Given the description of an element on the screen output the (x, y) to click on. 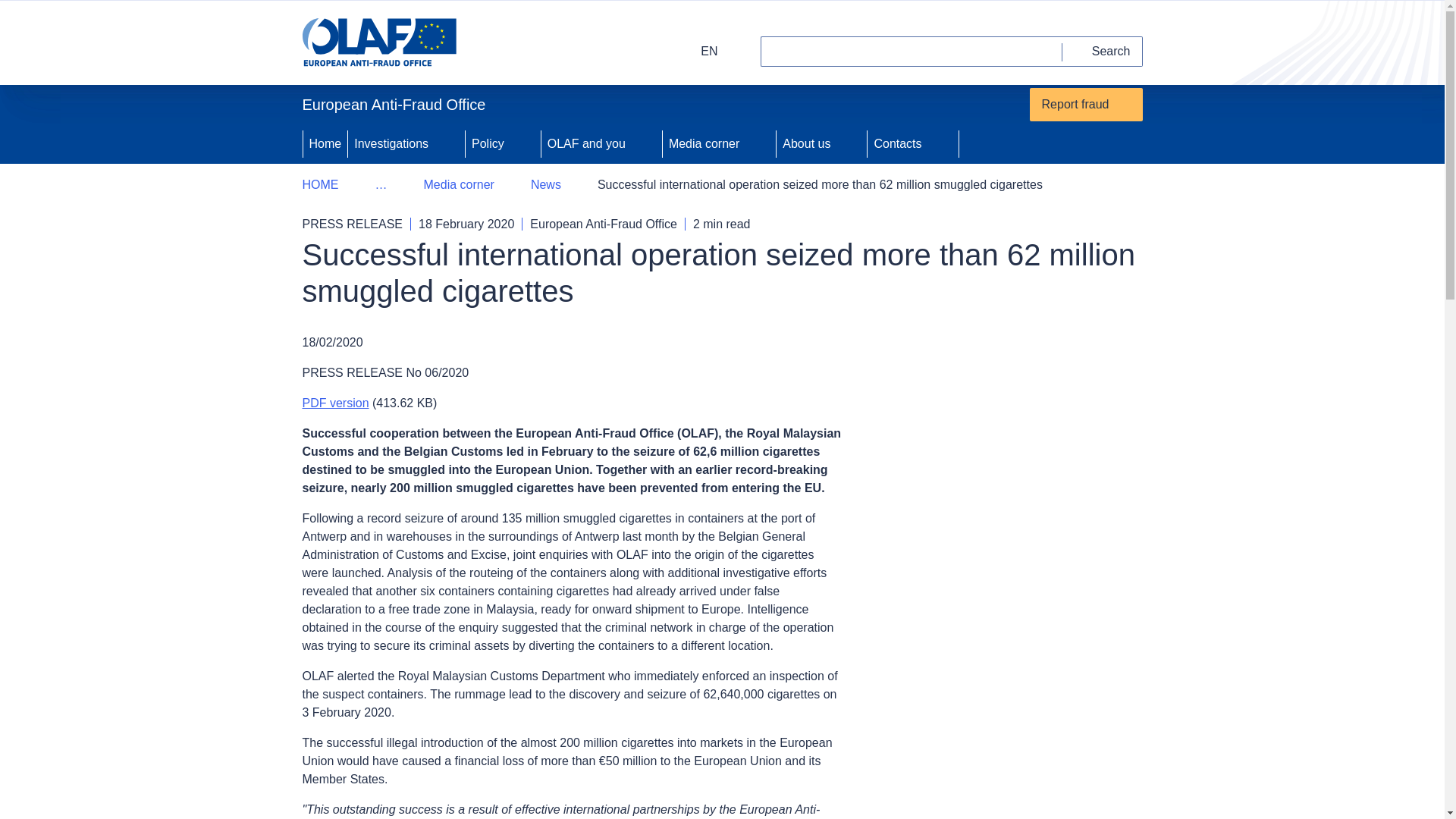
EN (699, 51)
Policy (485, 143)
Home (324, 143)
OLAF and you (584, 143)
Search (1102, 51)
European Anti-Fraud Office (398, 42)
Report fraud (1085, 104)
Investigations (388, 143)
